Given the description of an element on the screen output the (x, y) to click on. 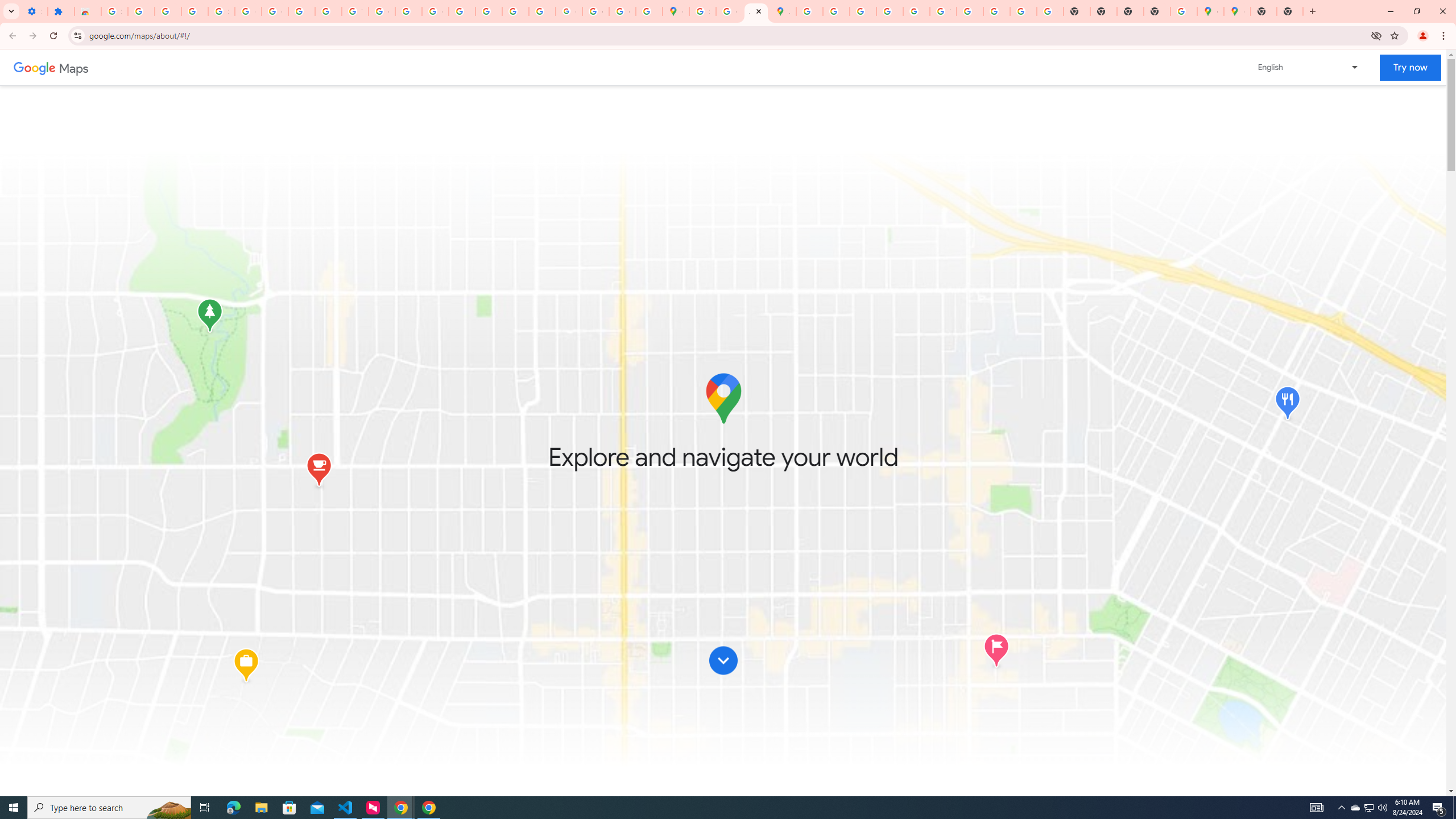
New Tab (1156, 11)
Google Maps (676, 11)
Sign in - Google Accounts (702, 11)
Try now (1409, 67)
Create your Google Account (729, 11)
